Given the description of an element on the screen output the (x, y) to click on. 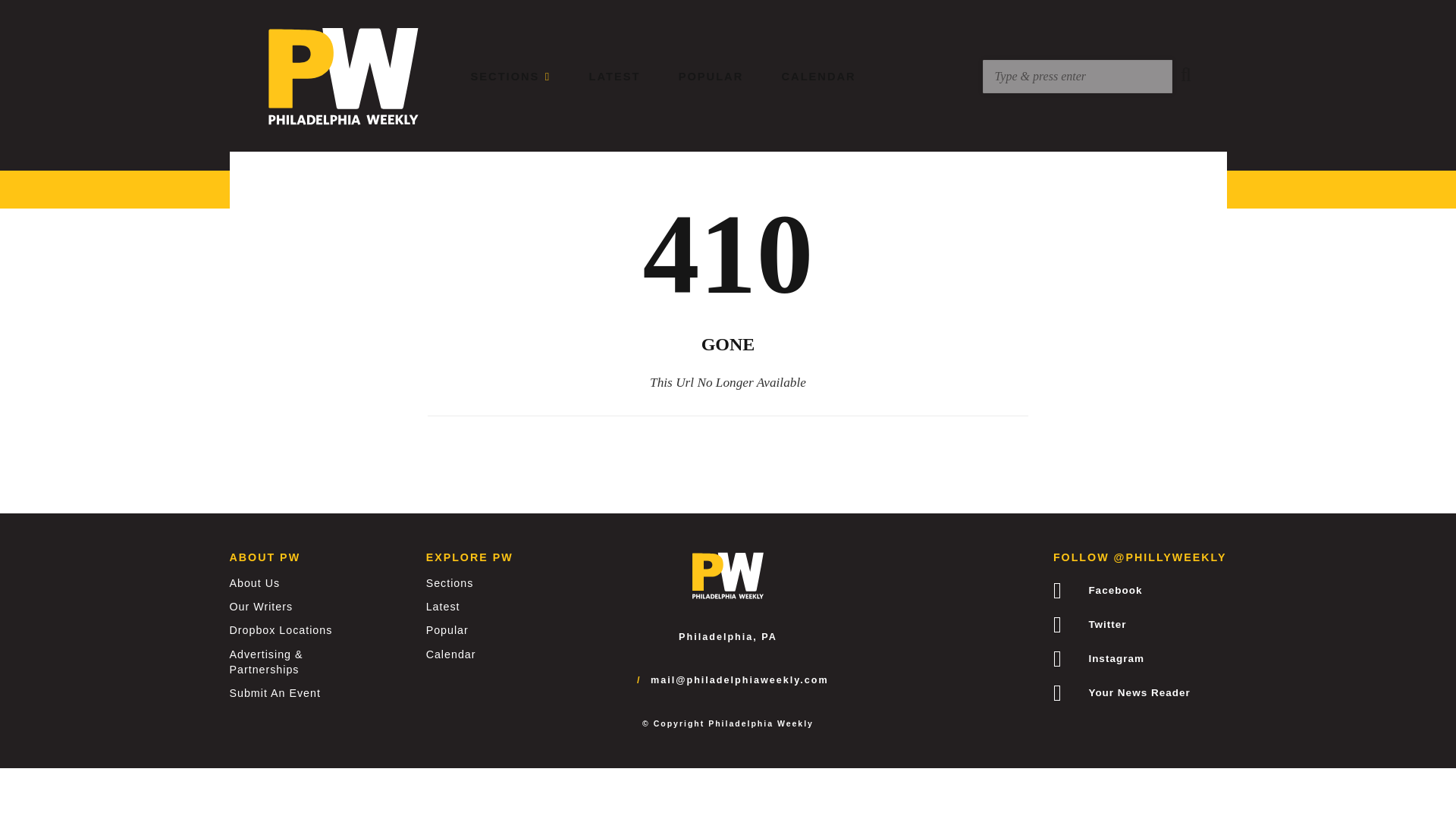
SECTIONS (510, 76)
POPULAR (711, 76)
CALENDAR (818, 76)
Search for: (1077, 76)
LATEST (614, 76)
